Given the description of an element on the screen output the (x, y) to click on. 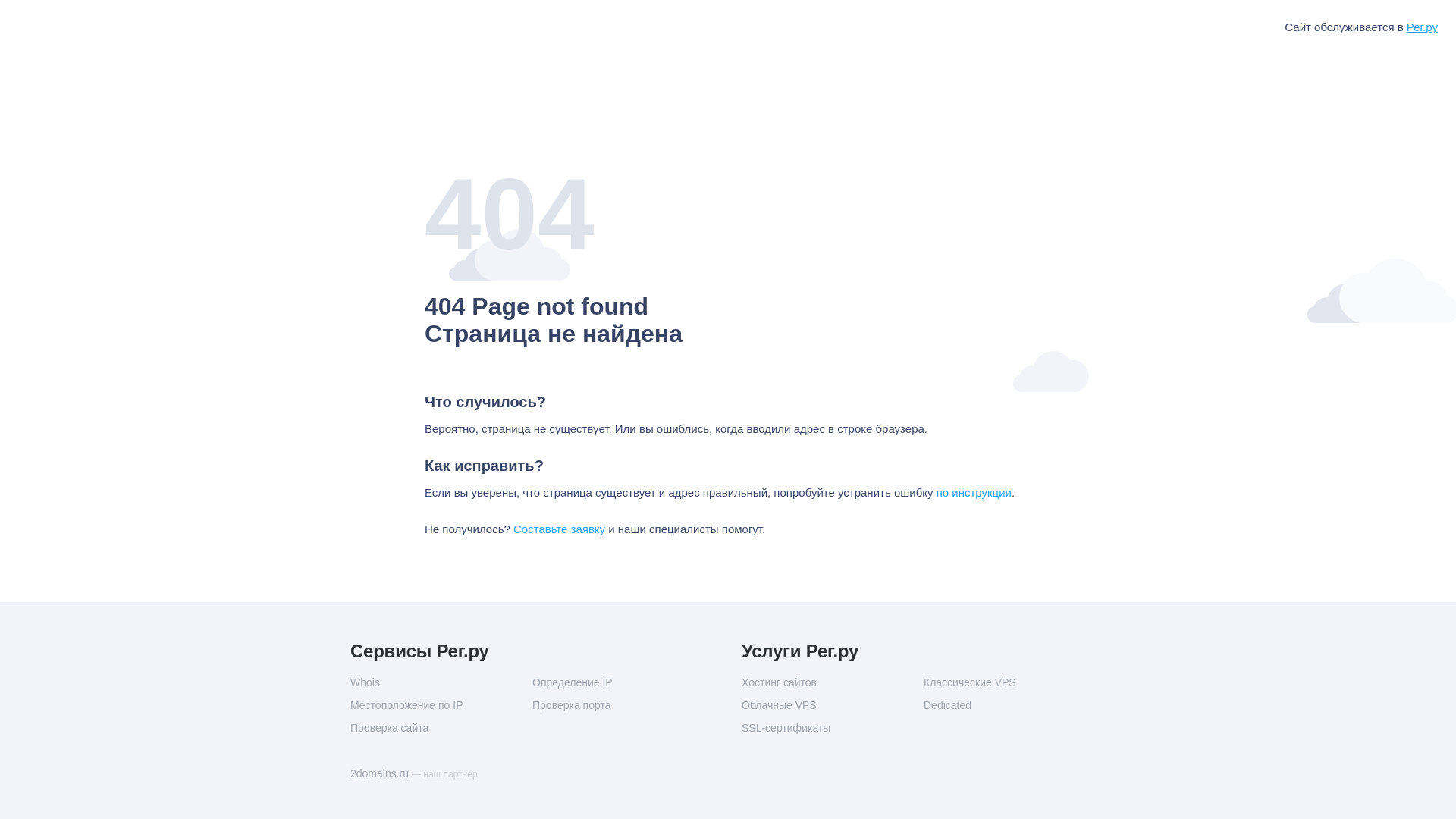
Dedicated Element type: text (1014, 705)
2domains.ru Element type: text (380, 773)
Whois Element type: text (441, 682)
